Given the description of an element on the screen output the (x, y) to click on. 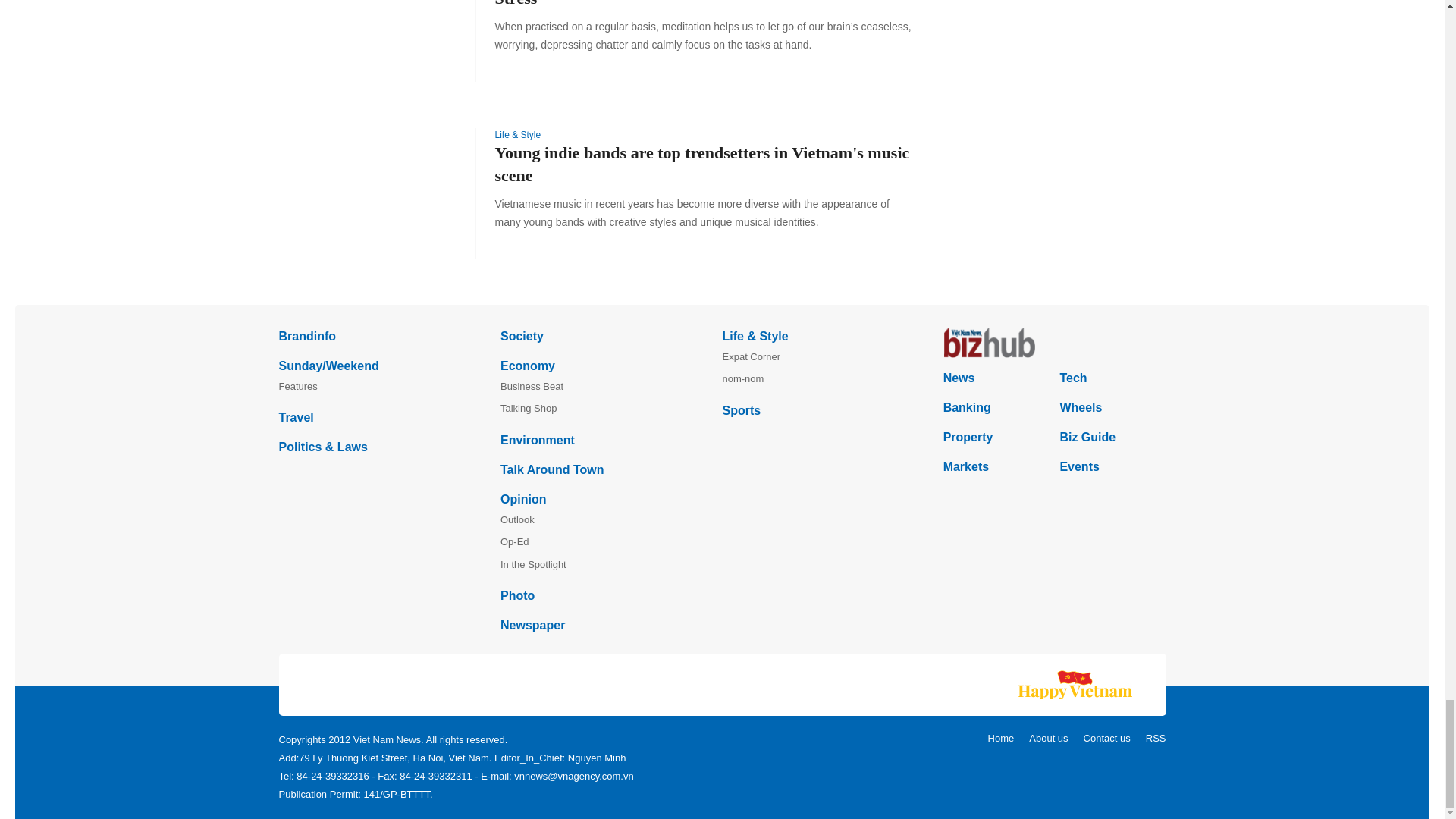
bizhub (1054, 342)
